Given the description of an element on the screen output the (x, y) to click on. 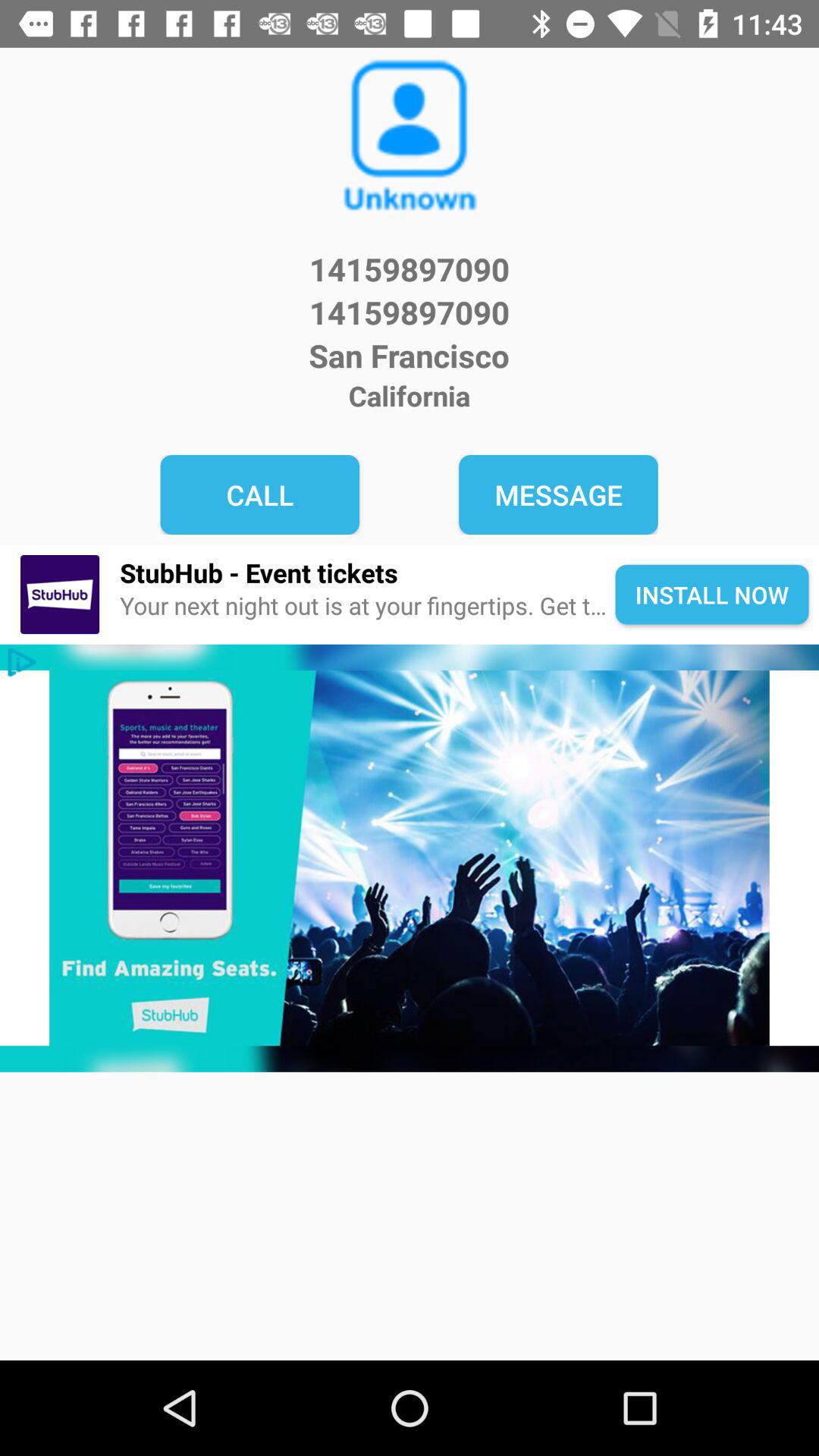
open the message item (558, 494)
